Given the description of an element on the screen output the (x, y) to click on. 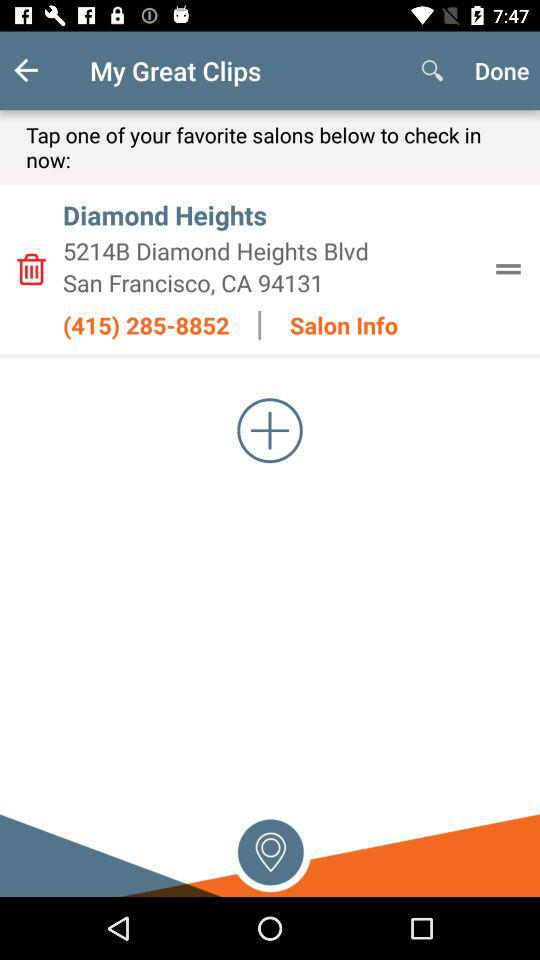
more (270, 430)
